Given the description of an element on the screen output the (x, y) to click on. 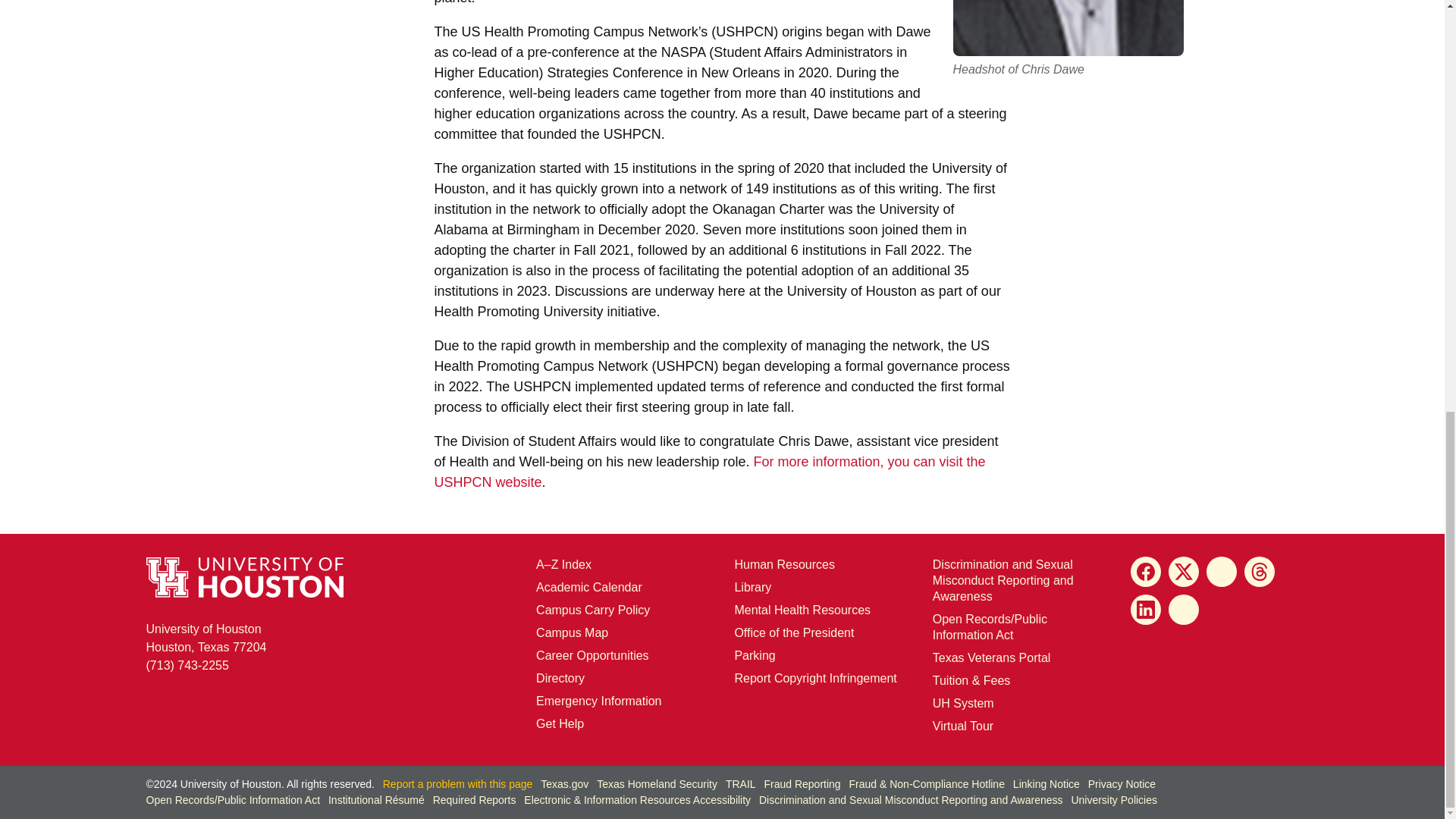
Virtual Tour (962, 725)
Human Resources (783, 563)
Office of the President (793, 632)
Career Opportunities (592, 655)
Texas Veterans Portal (992, 657)
Emergency Information (598, 700)
LinkedIn (1145, 609)
Campus Carry Policy (592, 609)
